Given the description of an element on the screen output the (x, y) to click on. 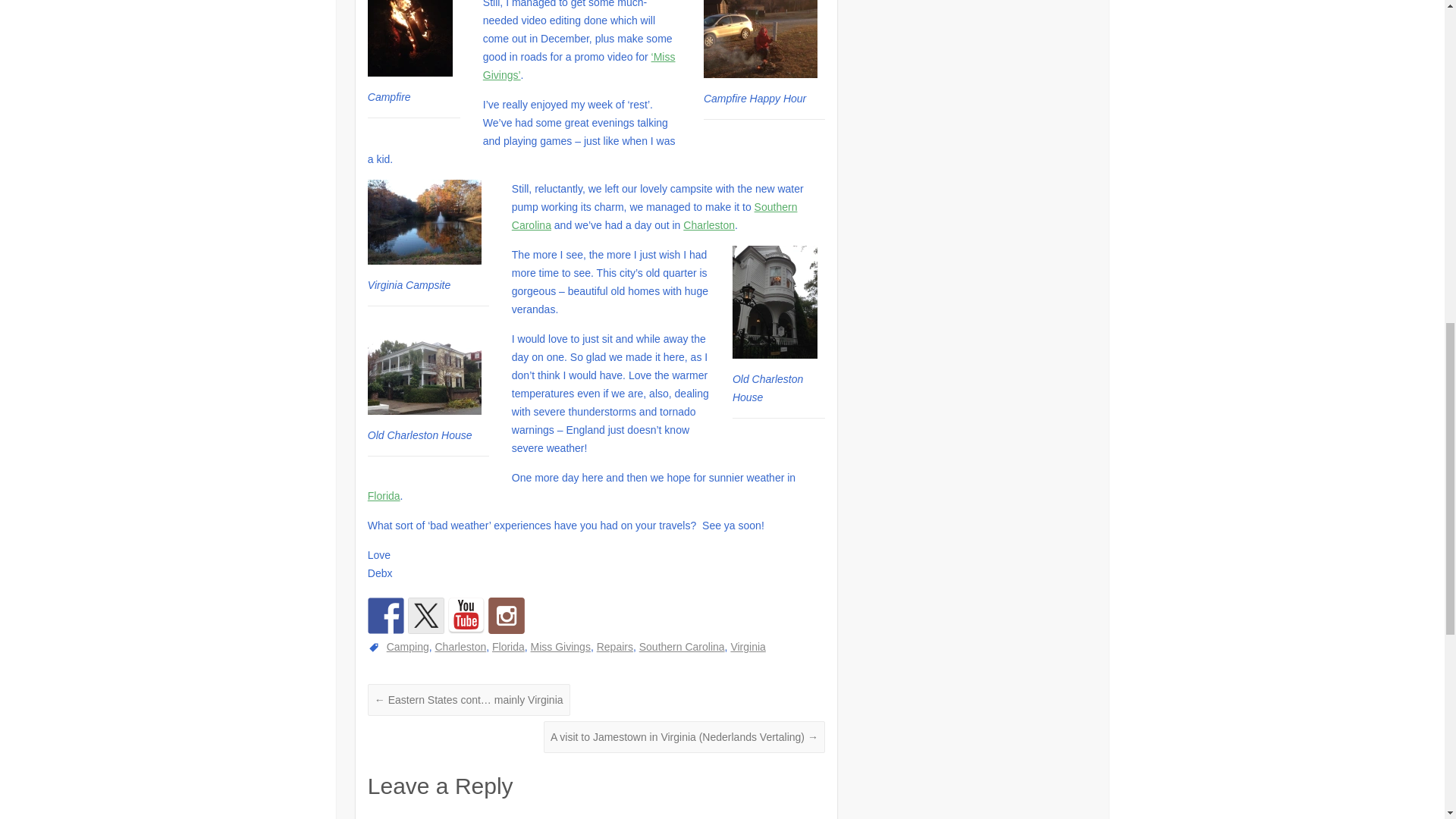
Bridge the Travel Gap (425, 615)
Florida (384, 495)
Check out our instagram feed (505, 615)
Charleston, S.C. (708, 224)
South Carolina (654, 215)
Debbie Bridge - Miss Givings (579, 65)
Bridge the Travel Gap (466, 615)
Bridge the Travel Gap (386, 615)
